Given the description of an element on the screen output the (x, y) to click on. 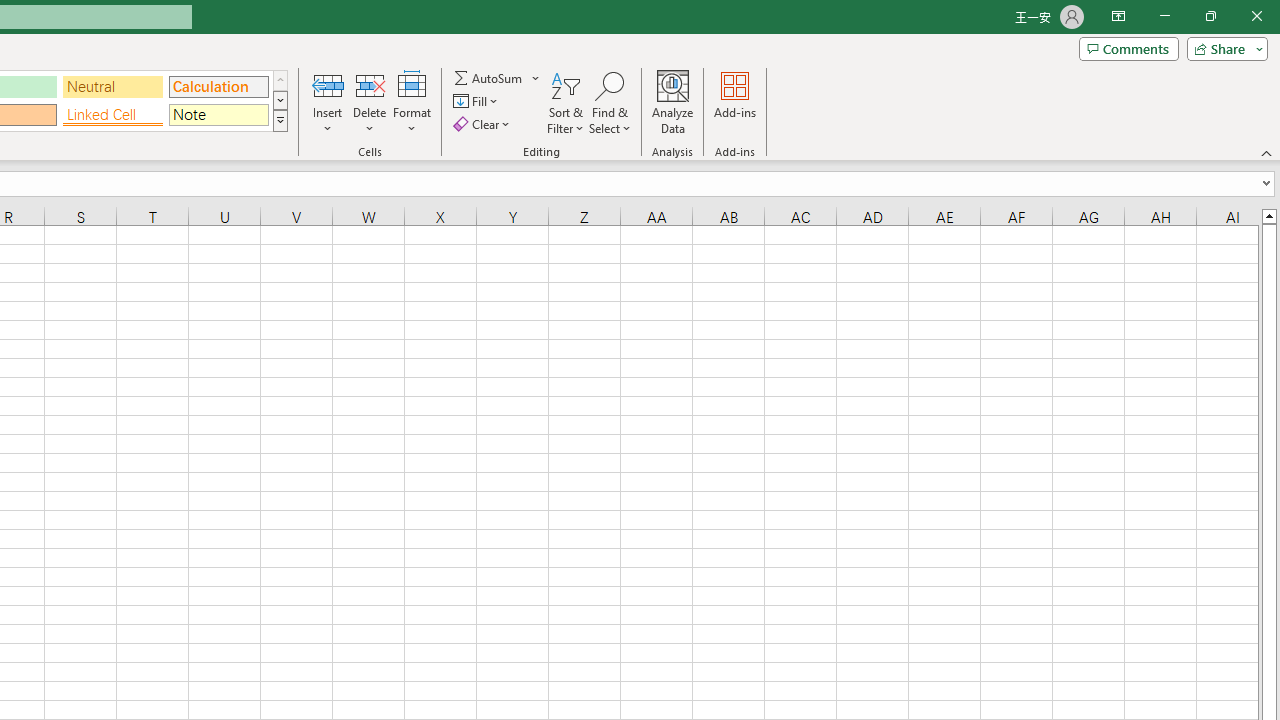
Cell Styles (280, 120)
Fill (477, 101)
Calculation (218, 86)
Find & Select (610, 102)
Sum (489, 78)
AutoSum (497, 78)
Linked Cell (113, 114)
Neutral (113, 86)
